Given the description of an element on the screen output the (x, y) to click on. 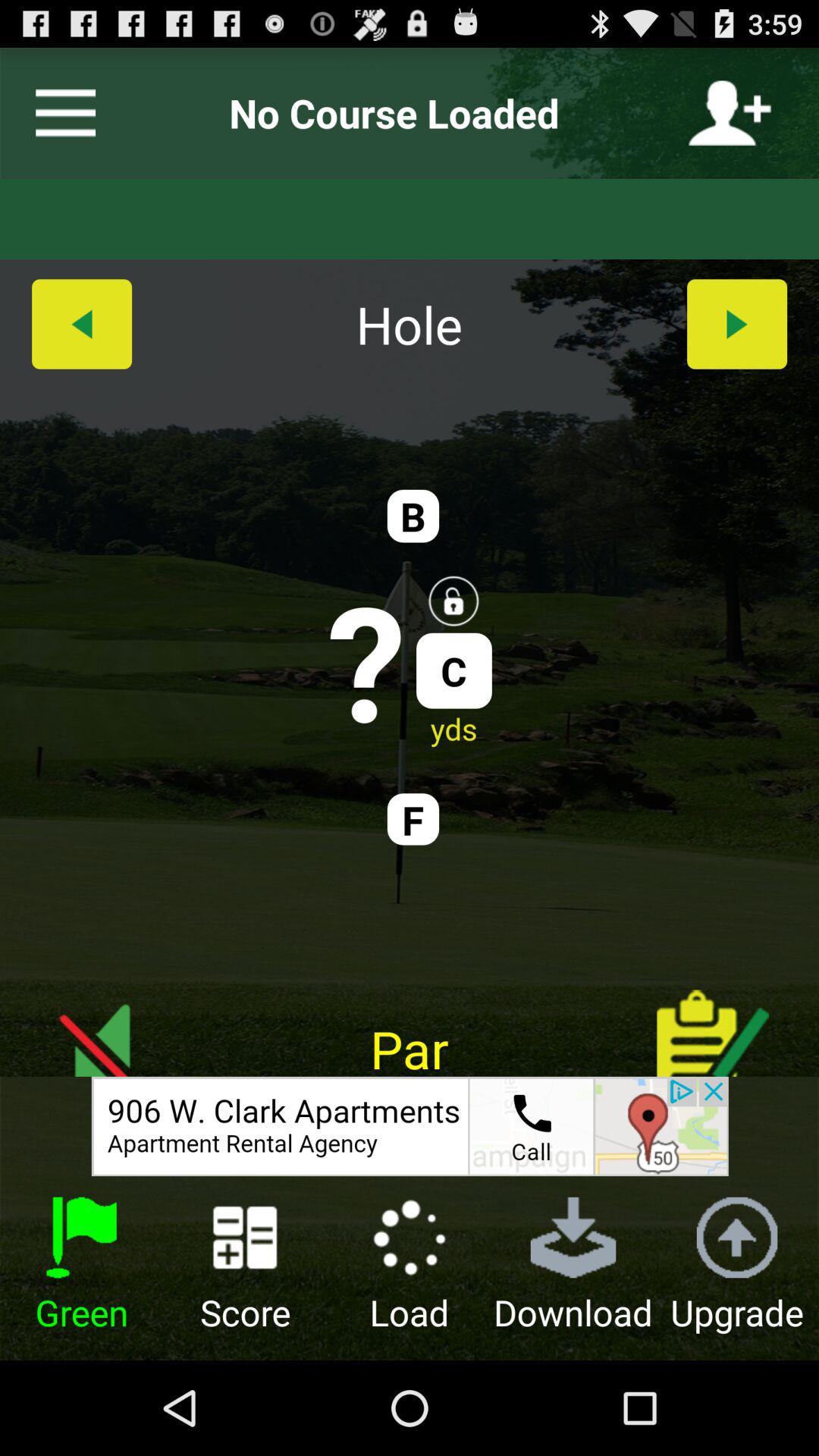
search (59, 112)
